Given the description of an element on the screen output the (x, y) to click on. 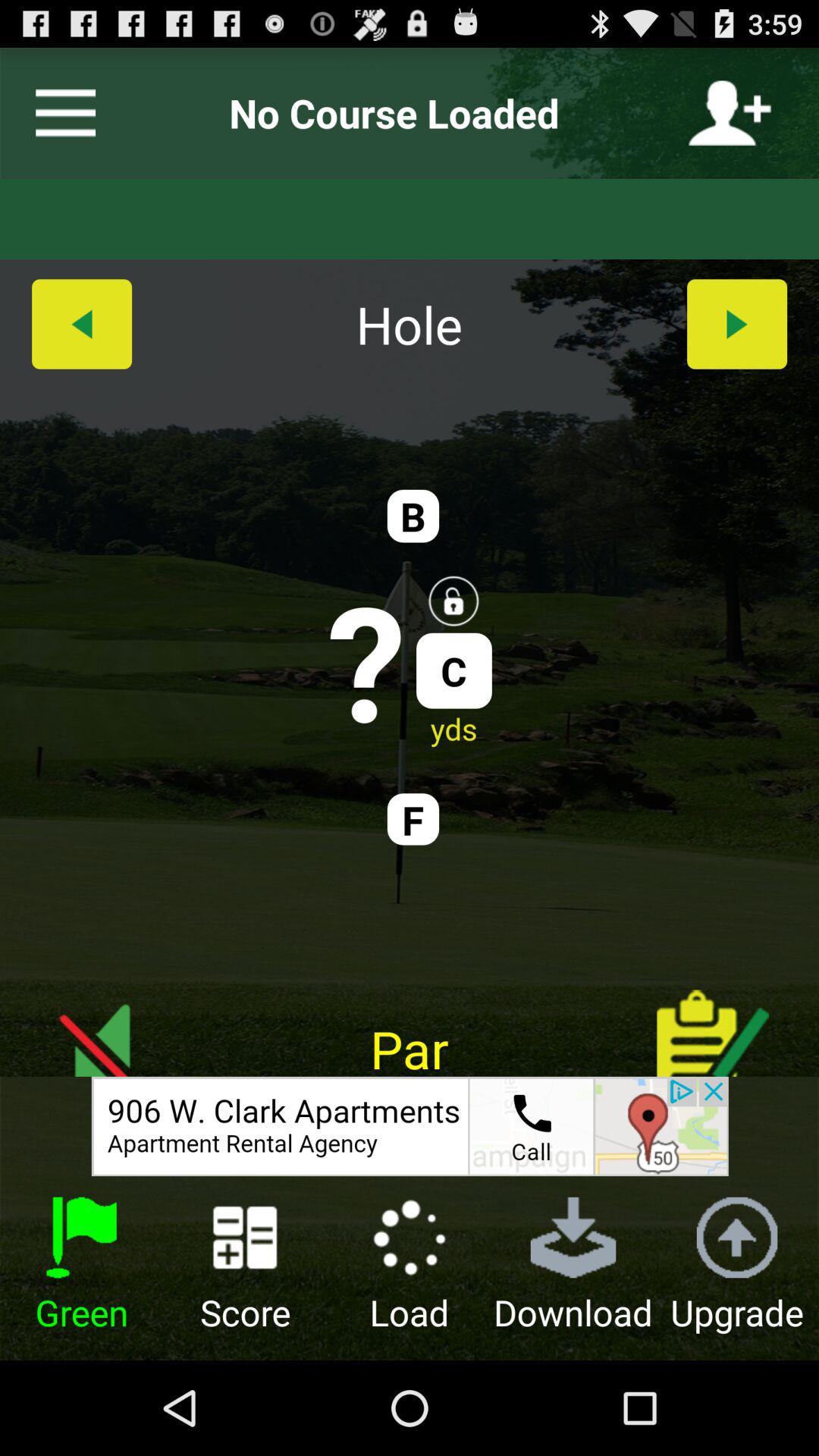
search (59, 112)
